Given the description of an element on the screen output the (x, y) to click on. 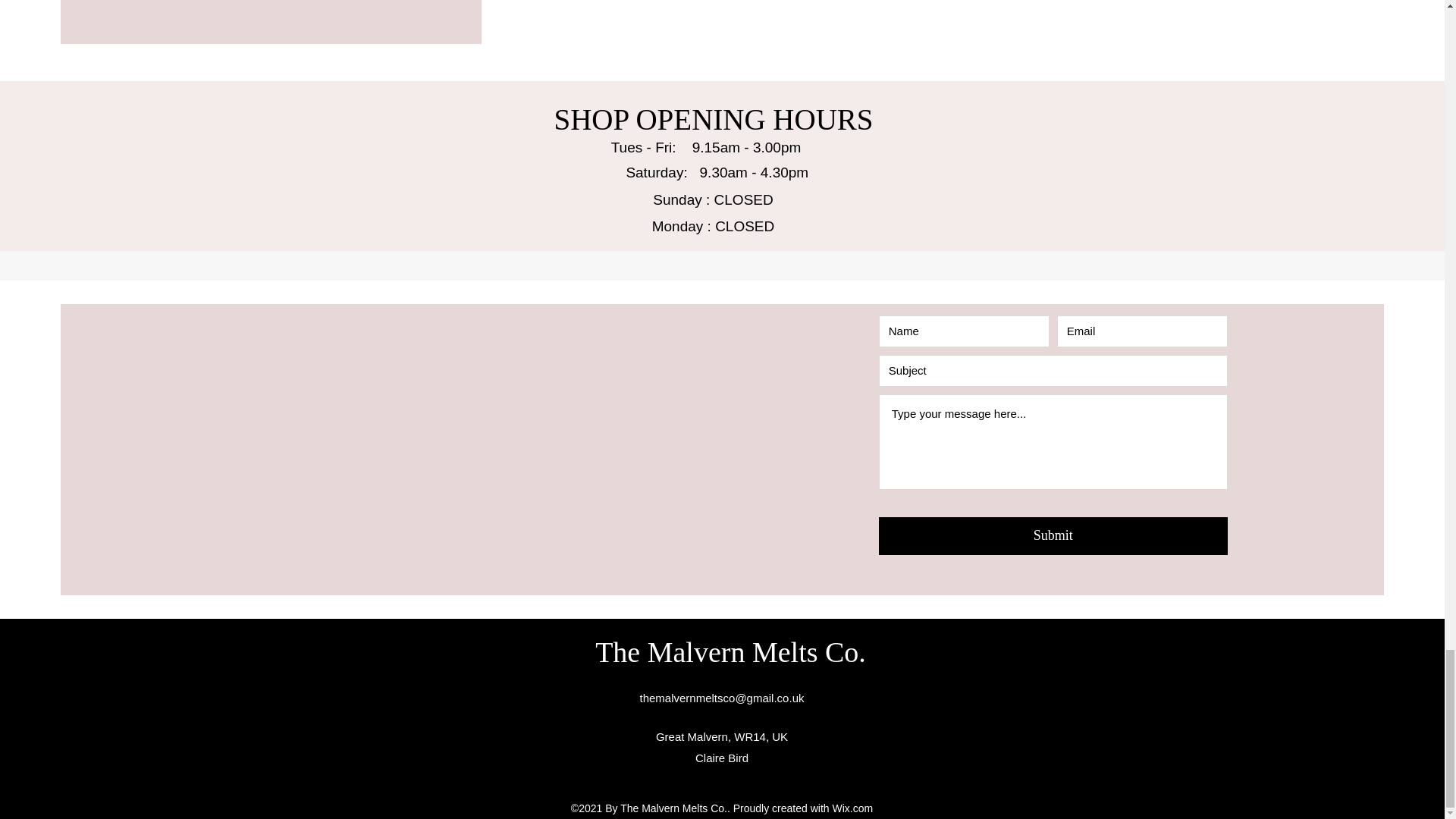
Submit (1053, 535)
The Malvern Melts Co. (730, 652)
